Given the description of an element on the screen output the (x, y) to click on. 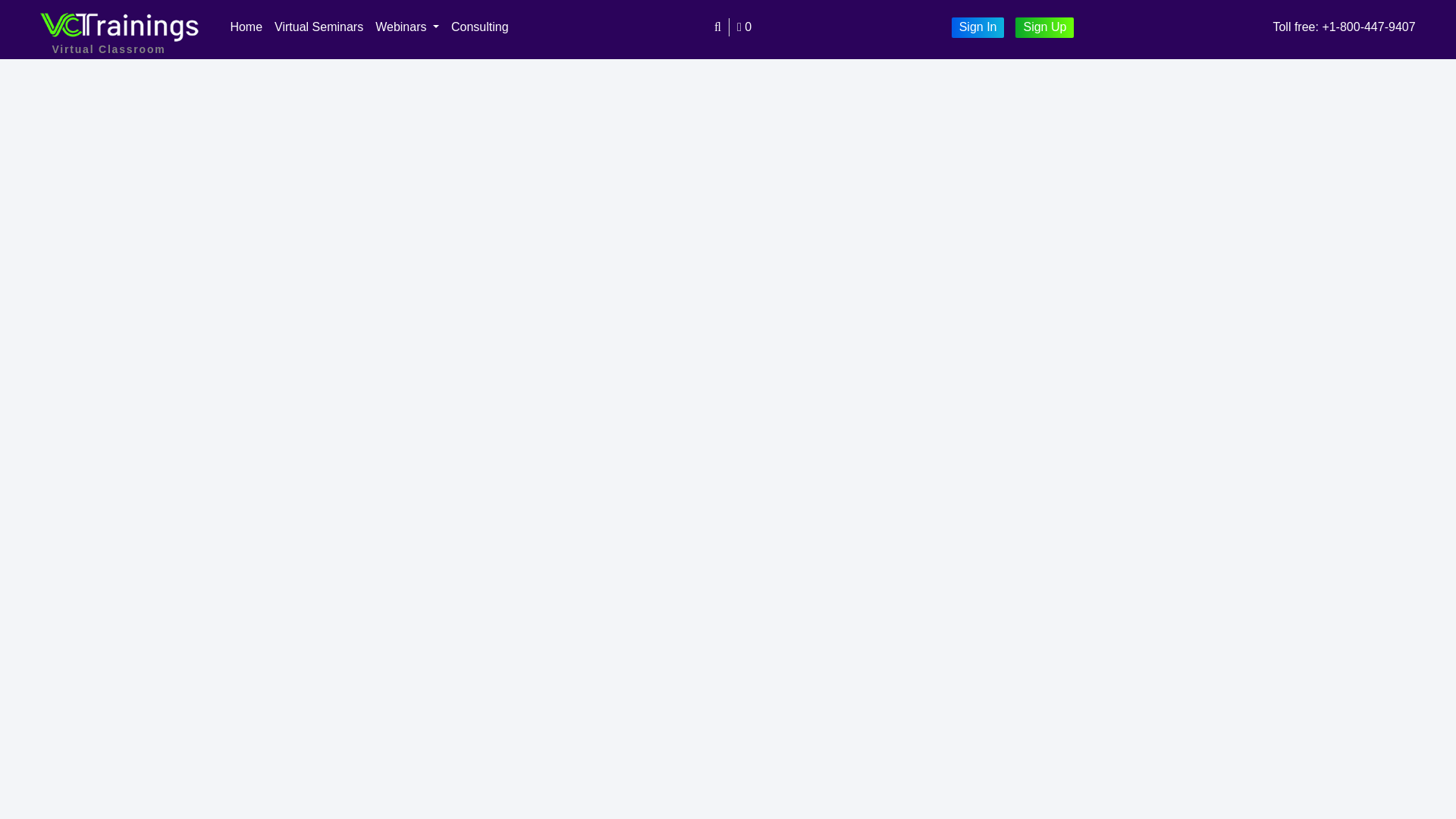
Sign In (978, 27)
Virtual Seminars (318, 27)
Virtual Classroom (119, 25)
Webinars (407, 27)
Consulting (480, 27)
Sign Up (1044, 27)
